Given the description of an element on the screen output the (x, y) to click on. 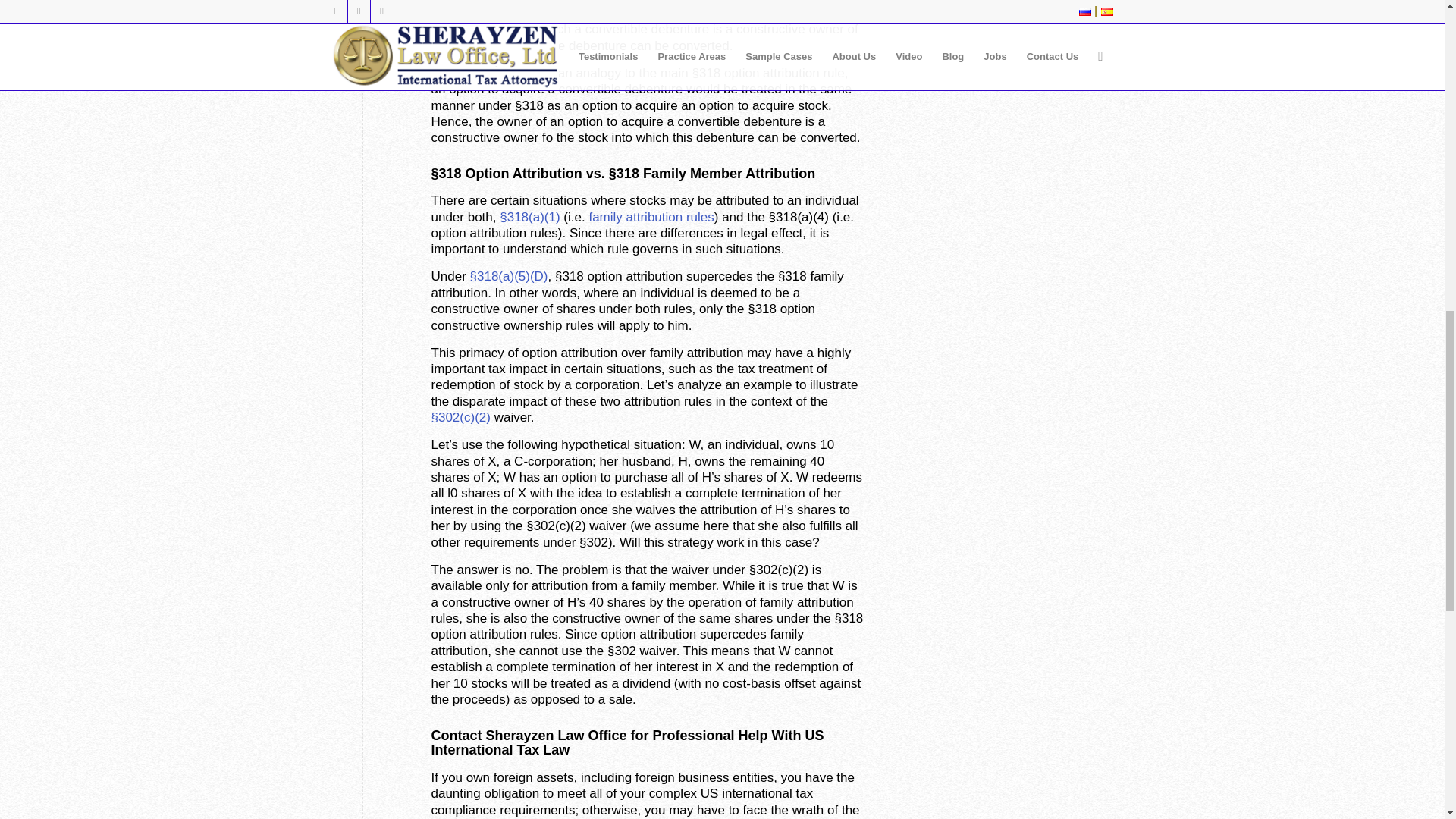
family attribution rules (650, 216)
